Given the description of an element on the screen output the (x, y) to click on. 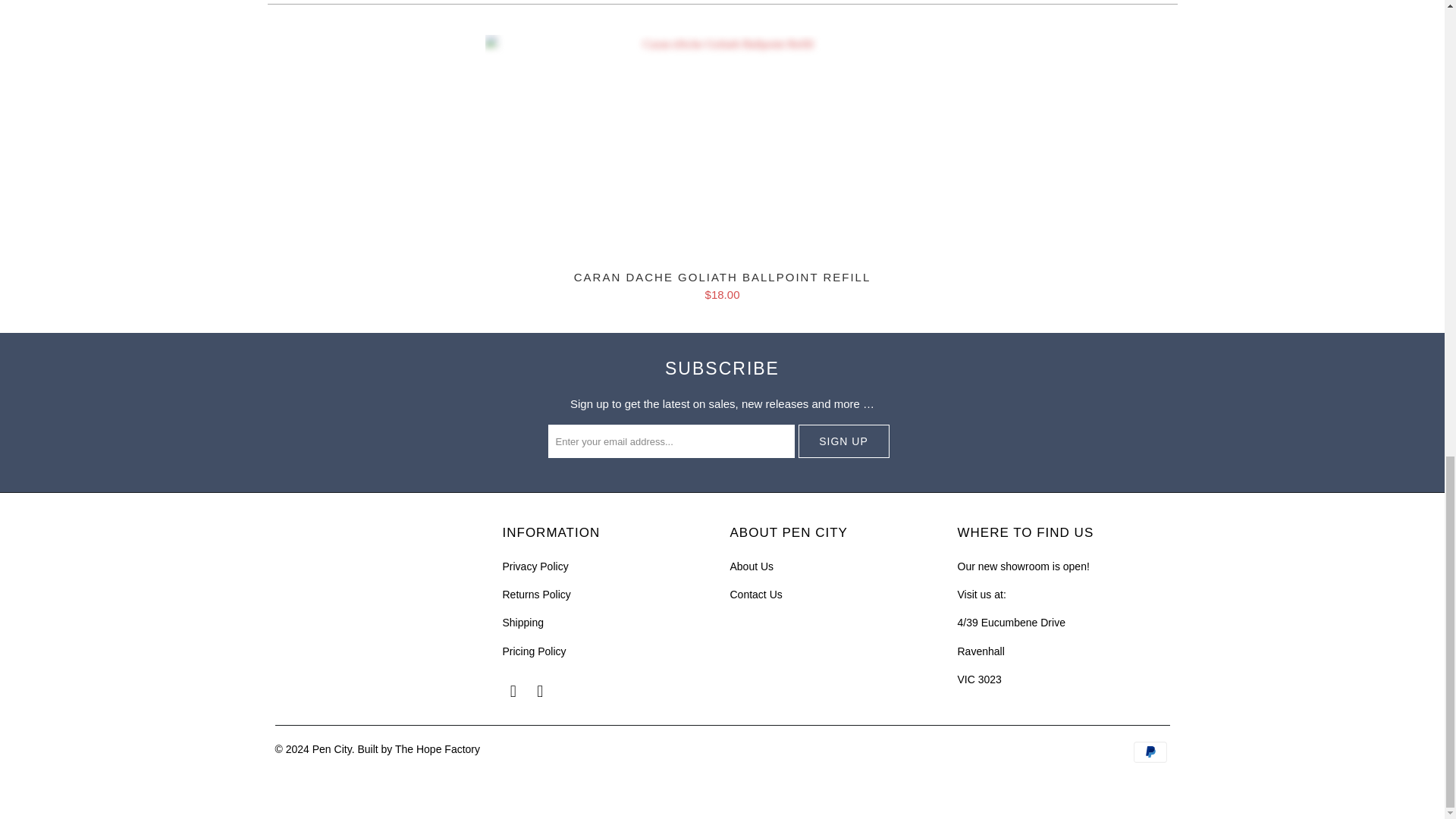
PayPal (1150, 752)
Pen City on Facebook (513, 691)
Sign Up (842, 441)
Pen City on Instagram (540, 691)
